Given the description of an element on the screen output the (x, y) to click on. 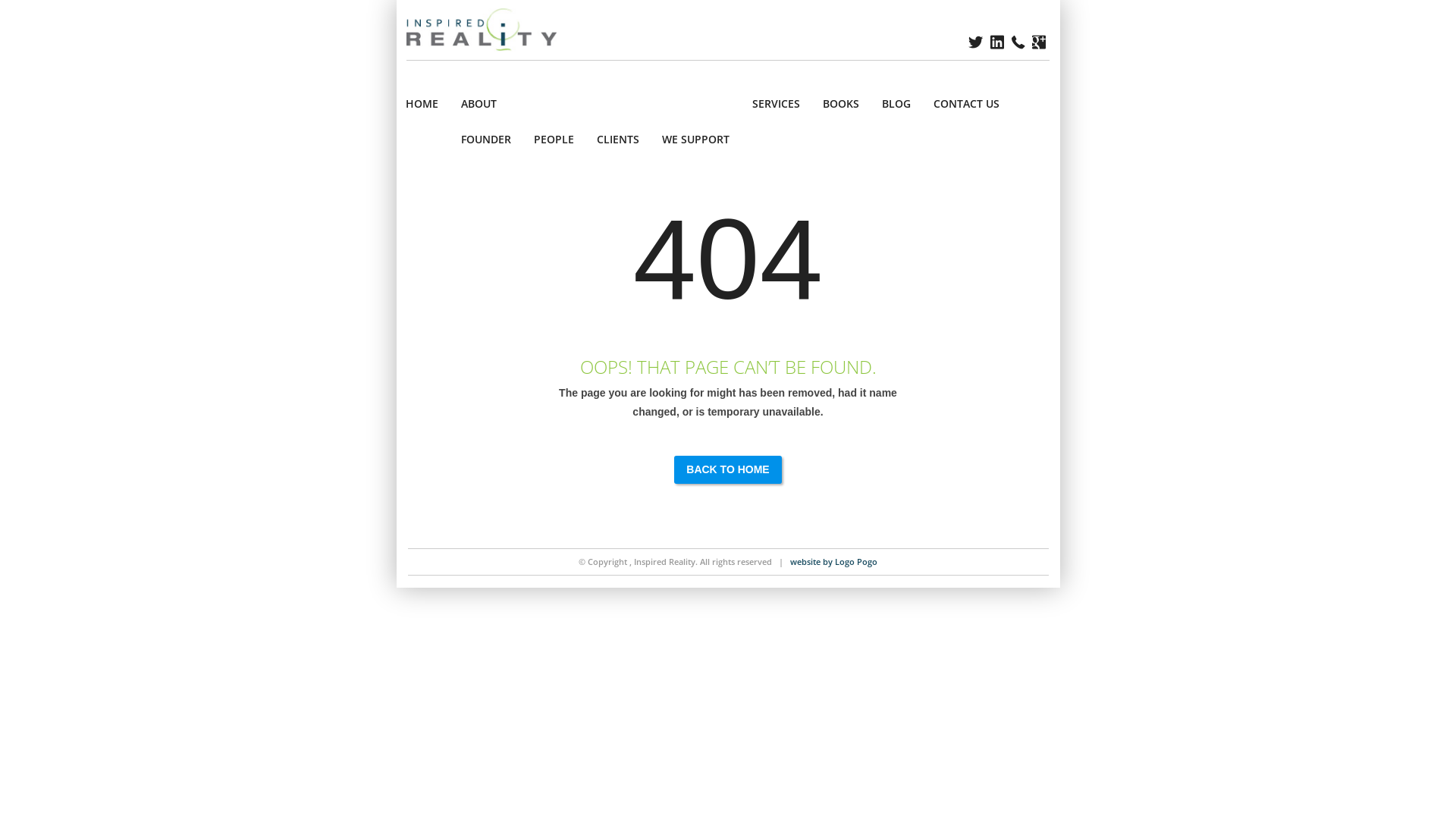
GOOGLE+ Element type: text (1038, 42)
Home... Element type: hover (489, 25)
ABOUT Element type: text (594, 103)
FOUNDER Element type: text (485, 138)
CLIENTS Element type: text (617, 138)
BOOKS Element type: text (840, 103)
WE SUPPORT Element type: text (695, 138)
SERVICES Element type: text (775, 103)
PEOPLE Element type: text (553, 138)
BACK TO HOME Element type: text (727, 469)
CONTACT US Element type: text (966, 103)
PHONE Element type: text (1017, 42)
HOME Element type: text (421, 103)
LINKEDIN Element type: text (996, 42)
BLOG Element type: text (896, 103)
TWITTER Element type: text (975, 42)
website by Logo Pogo Element type: text (833, 561)
